Given the description of an element on the screen output the (x, y) to click on. 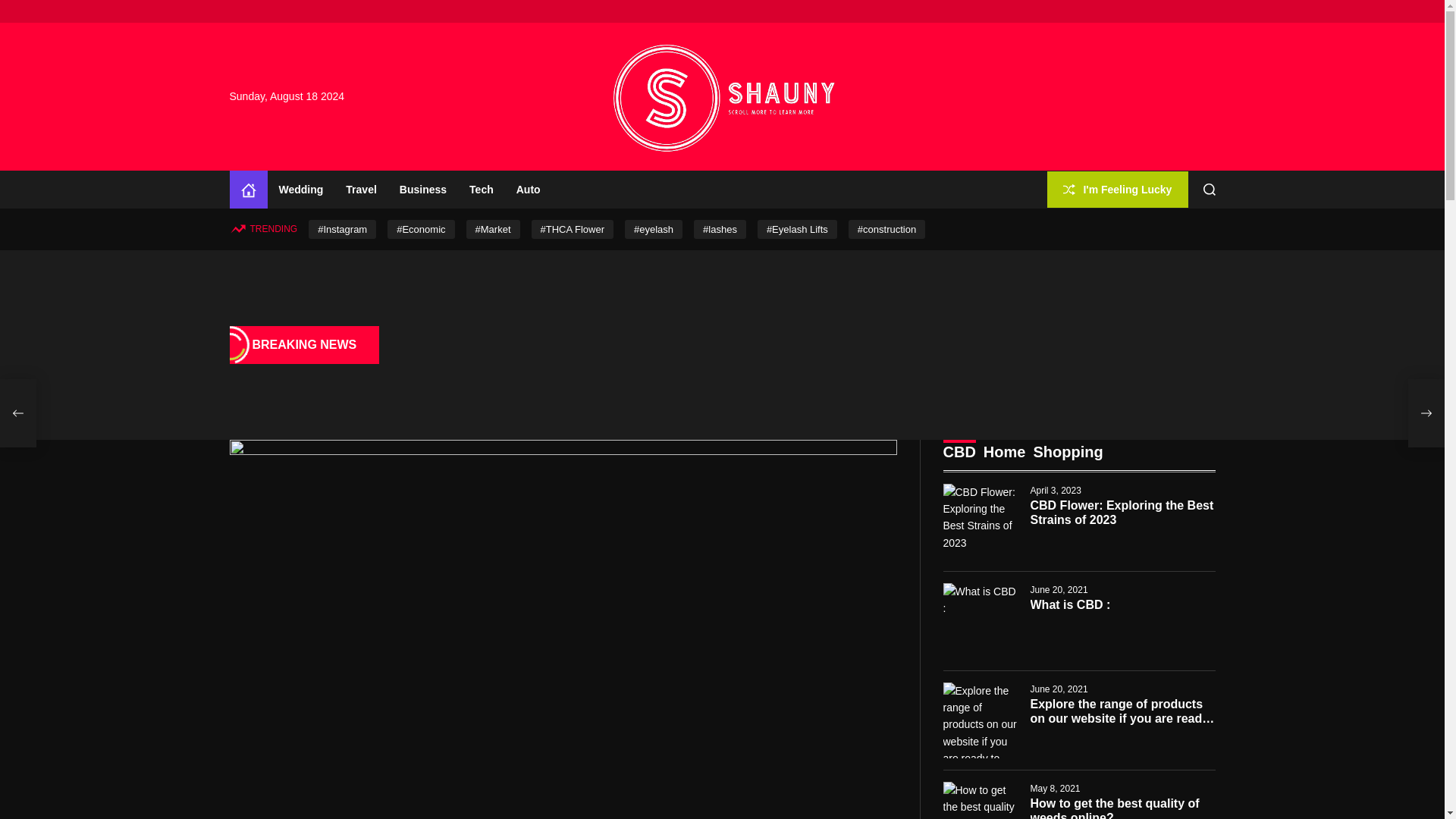
Business (423, 189)
Travel (360, 189)
Auto (528, 189)
Wedding (300, 189)
Search (1209, 189)
Tech (481, 189)
I'm Feeling Lucky (1117, 189)
Home (247, 189)
